Given the description of an element on the screen output the (x, y) to click on. 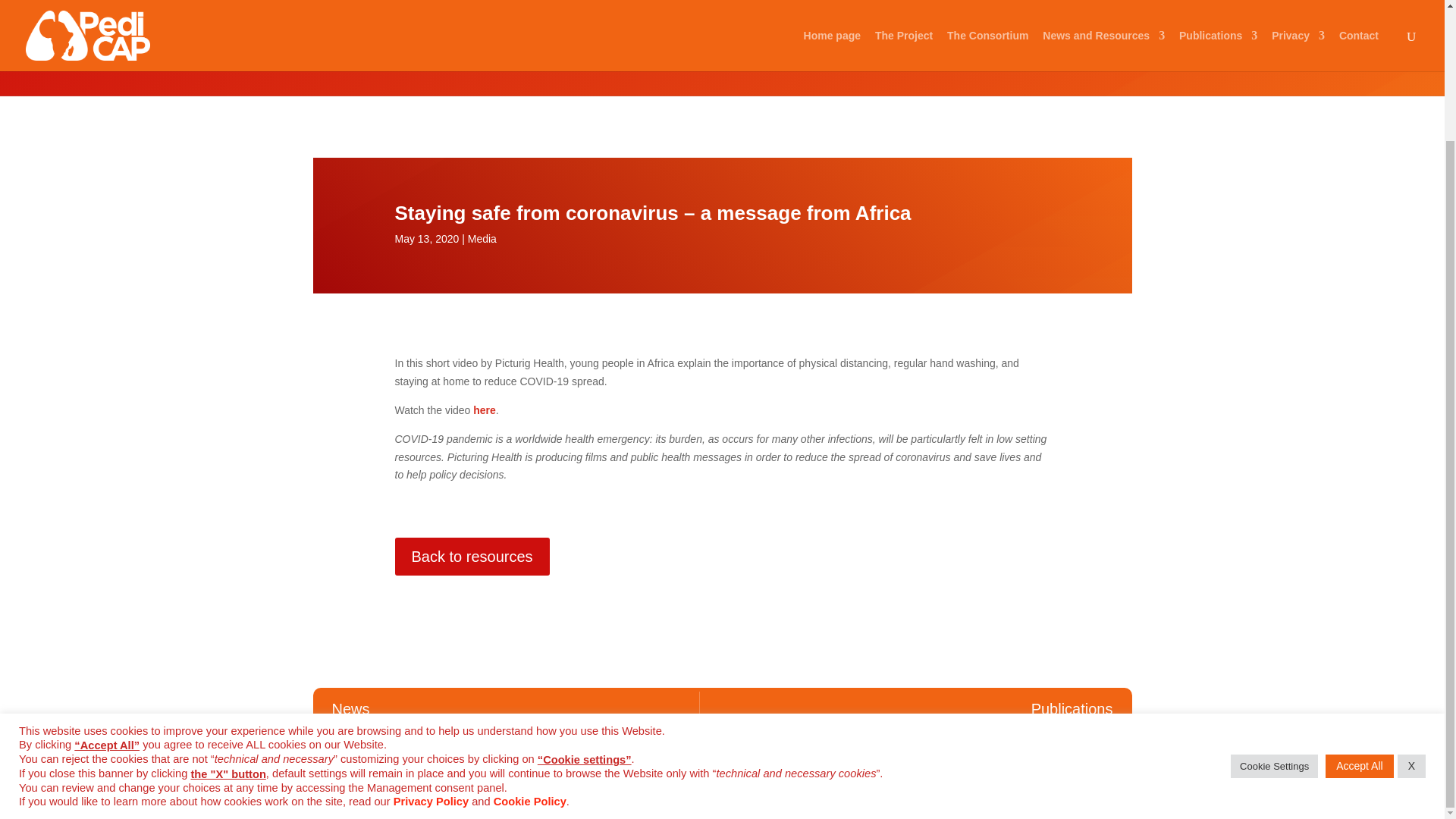
Cookie Settings (1273, 607)
News (351, 708)
Publications (1072, 708)
X (1411, 607)
Cookie Policy (529, 642)
Back to resources (471, 556)
Media (329, 41)
Accept All (1358, 607)
Media (481, 238)
here (484, 410)
